Given the description of an element on the screen output the (x, y) to click on. 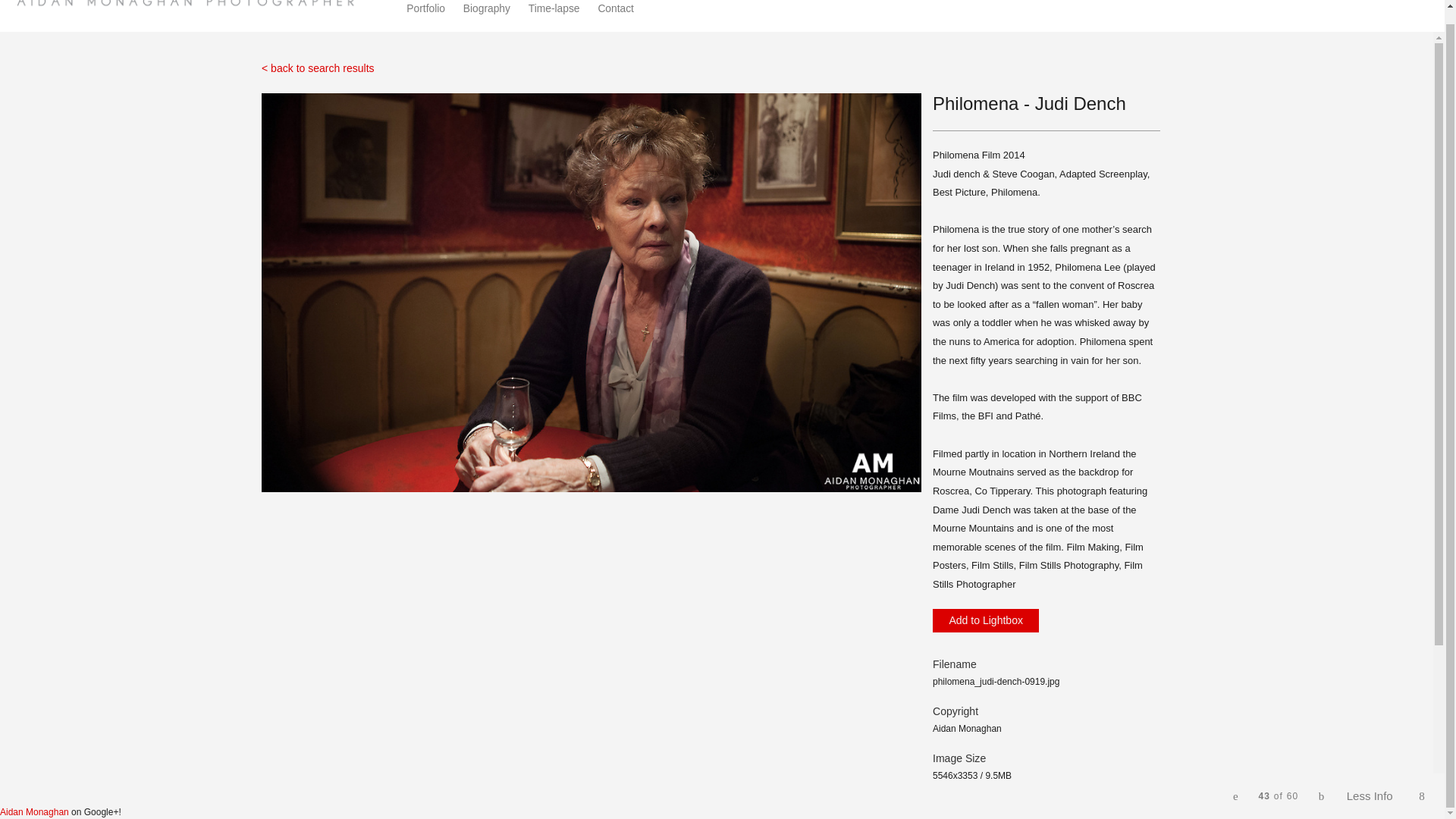
Portfolio (425, 8)
Aidan Monaghan Belfast Photographer (191, 4)
Info (1371, 782)
back to search results (318, 68)
Add to Lightbox (986, 620)
Biography (487, 8)
Aidan Monaghan Belfast Photographer (191, 4)
Time-lapse (553, 8)
Contact (614, 8)
Aidan Monaghan (34, 811)
Info (1371, 782)
Portfolio Biography Time-lapse Contact (527, 9)
